Given the description of an element on the screen output the (x, y) to click on. 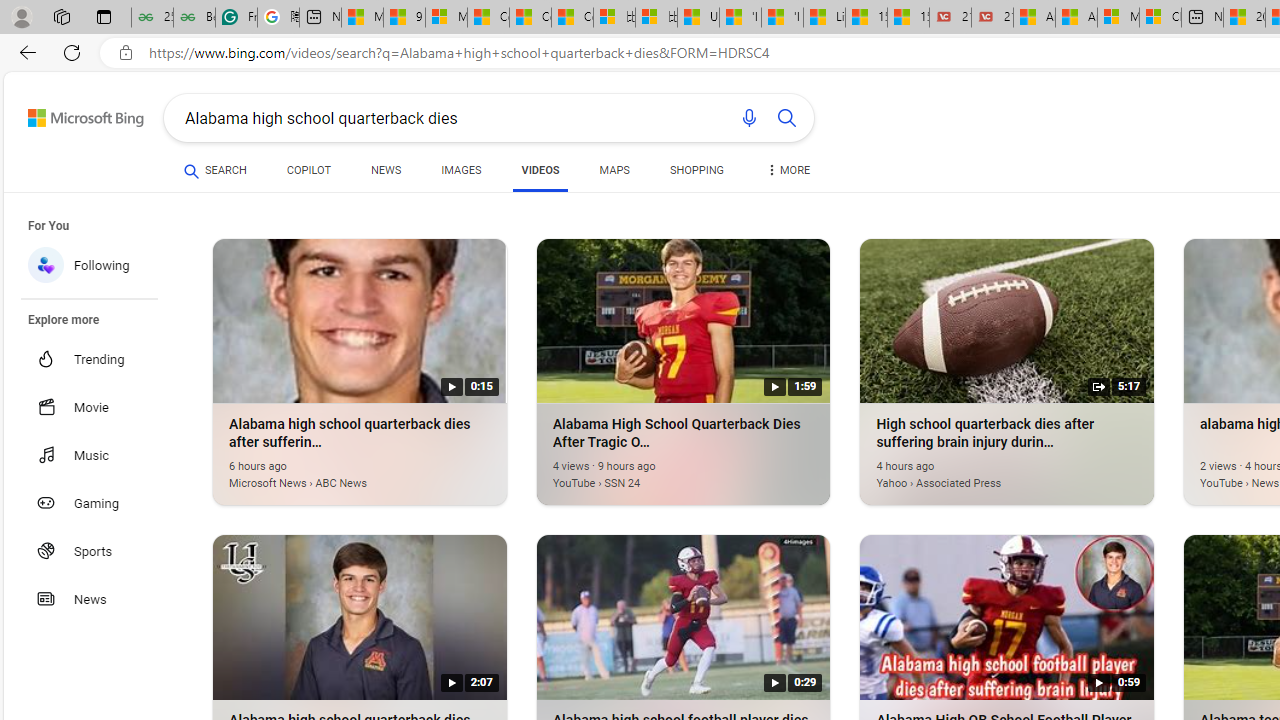
SEARCH (215, 170)
MORE (787, 173)
15 Ways Modern Life Contradicts the Teachings of Jesus (908, 17)
COPILOT (308, 170)
Search using voice (748, 117)
20 Ways to Boost Your Protein Intake at Every Meal (1243, 17)
USA TODAY - MSN (698, 17)
SEARCH (215, 170)
